Given the description of an element on the screen output the (x, y) to click on. 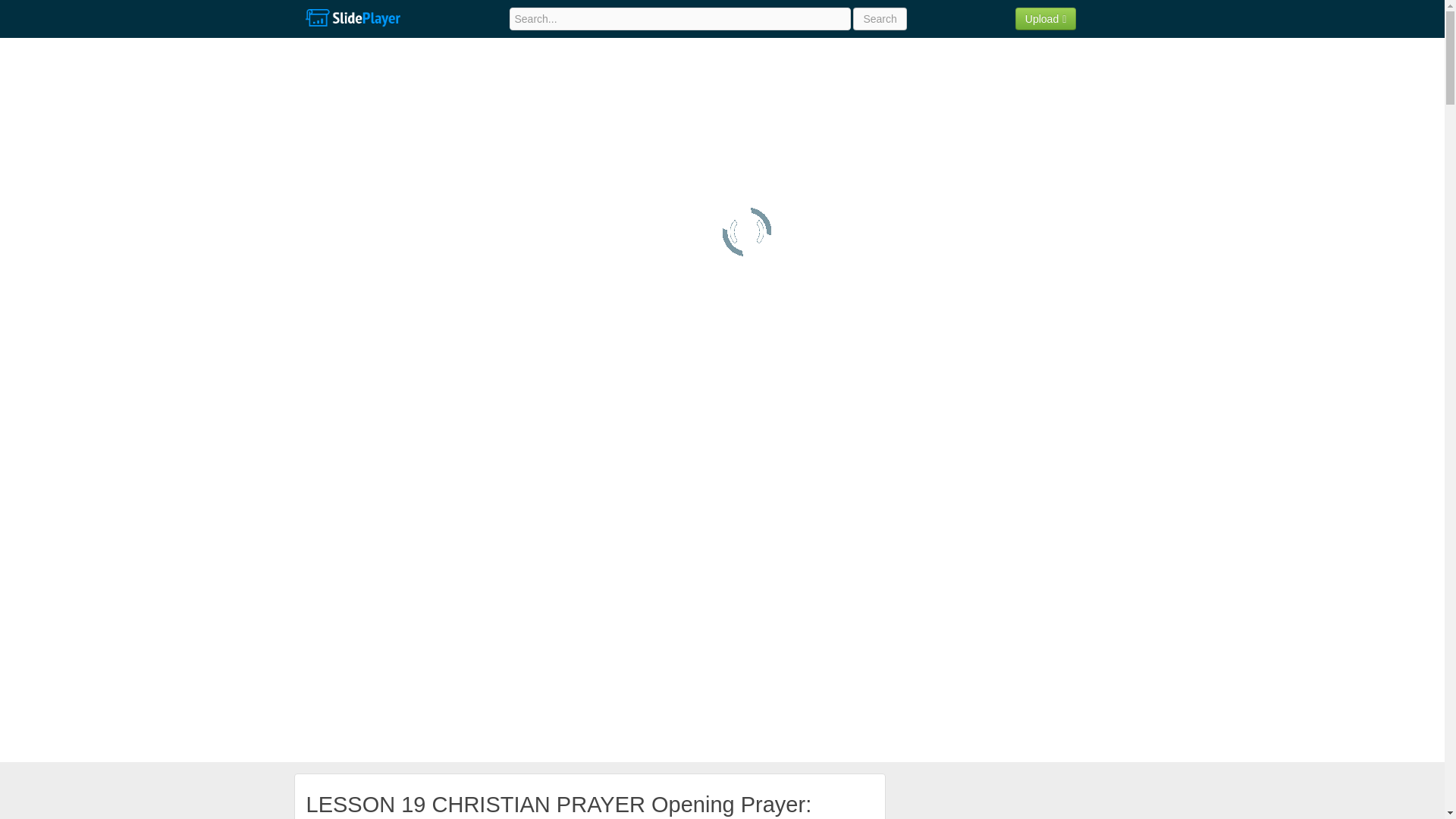
Presentation is loading. Please wait. (746, 232)
SlidePlayer (352, 18)
Upload (1045, 18)
Search (879, 18)
